Given the description of an element on the screen output the (x, y) to click on. 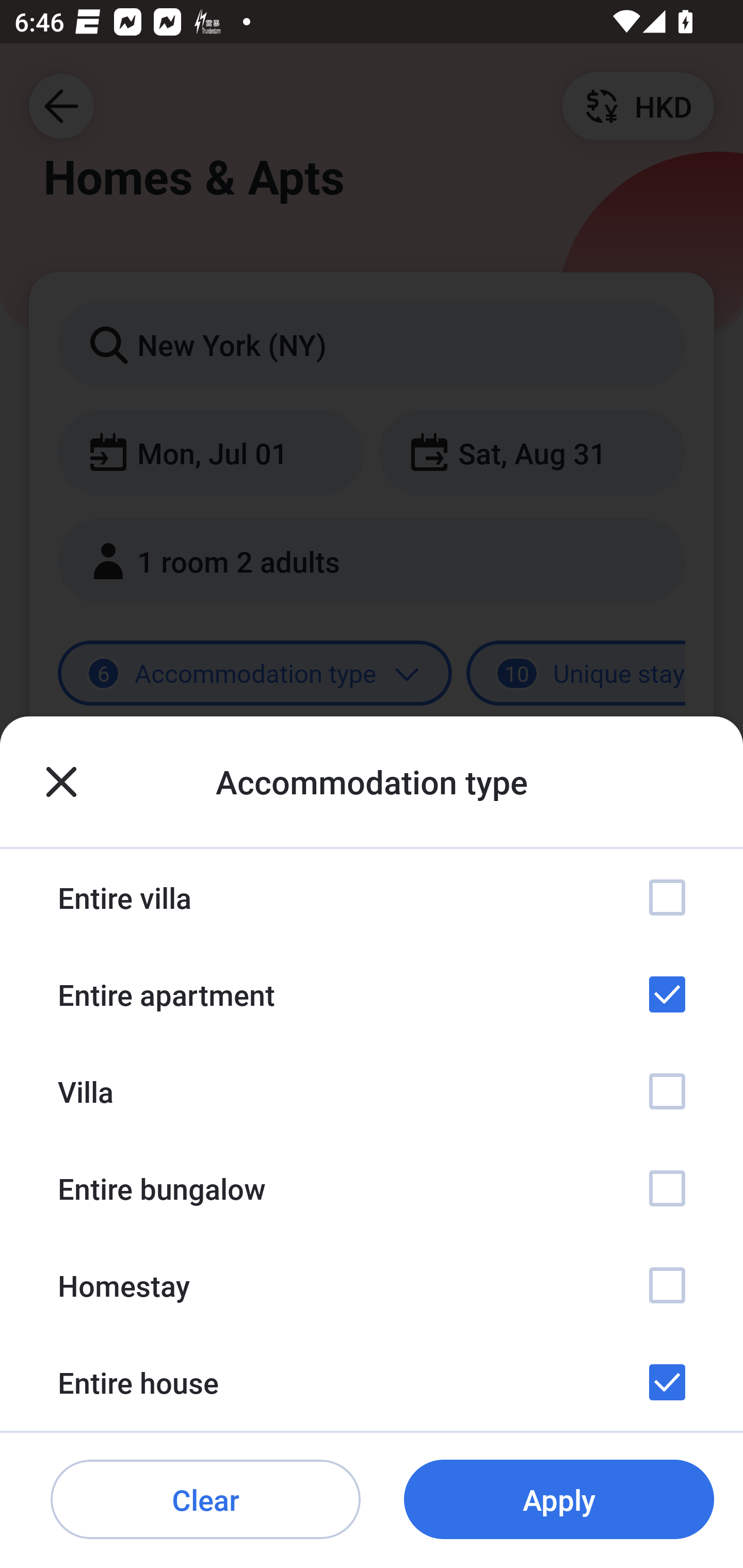
Entire villa (371, 897)
Entire apartment (371, 994)
Villa (371, 1091)
Entire bungalow (371, 1188)
Homestay (371, 1284)
Entire house (371, 1382)
Clear (205, 1499)
Apply (559, 1499)
